Given the description of an element on the screen output the (x, y) to click on. 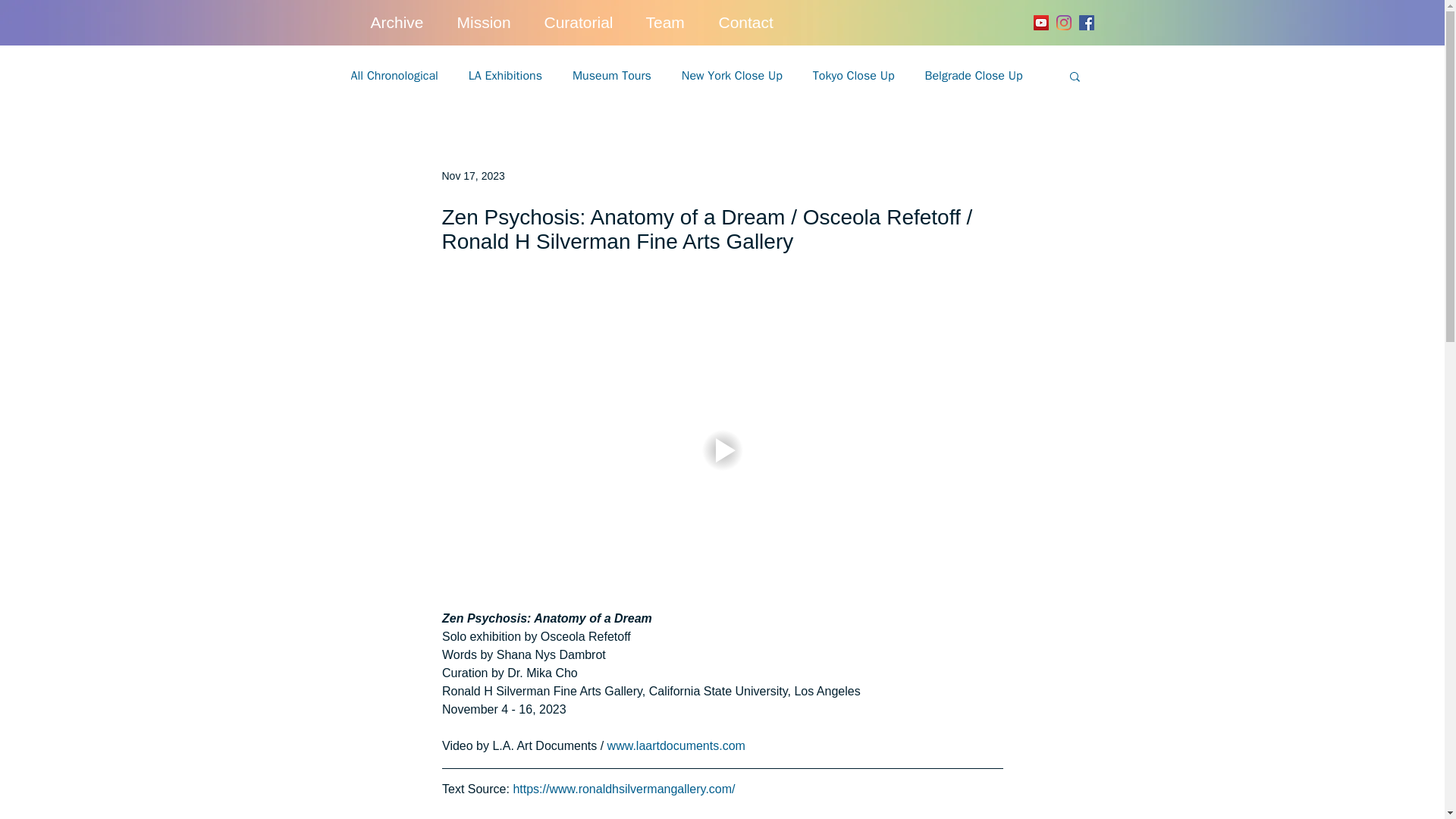
Nov 17, 2023 (472, 175)
Archive (405, 22)
Belgrade Close Up (973, 75)
Tokyo Close Up (853, 75)
All Chronological (394, 75)
Curatorial (588, 22)
Museum Tours (611, 75)
www.laartdocuments.com  (677, 745)
Contact (754, 22)
New York Close Up (732, 75)
